Given the description of an element on the screen output the (x, y) to click on. 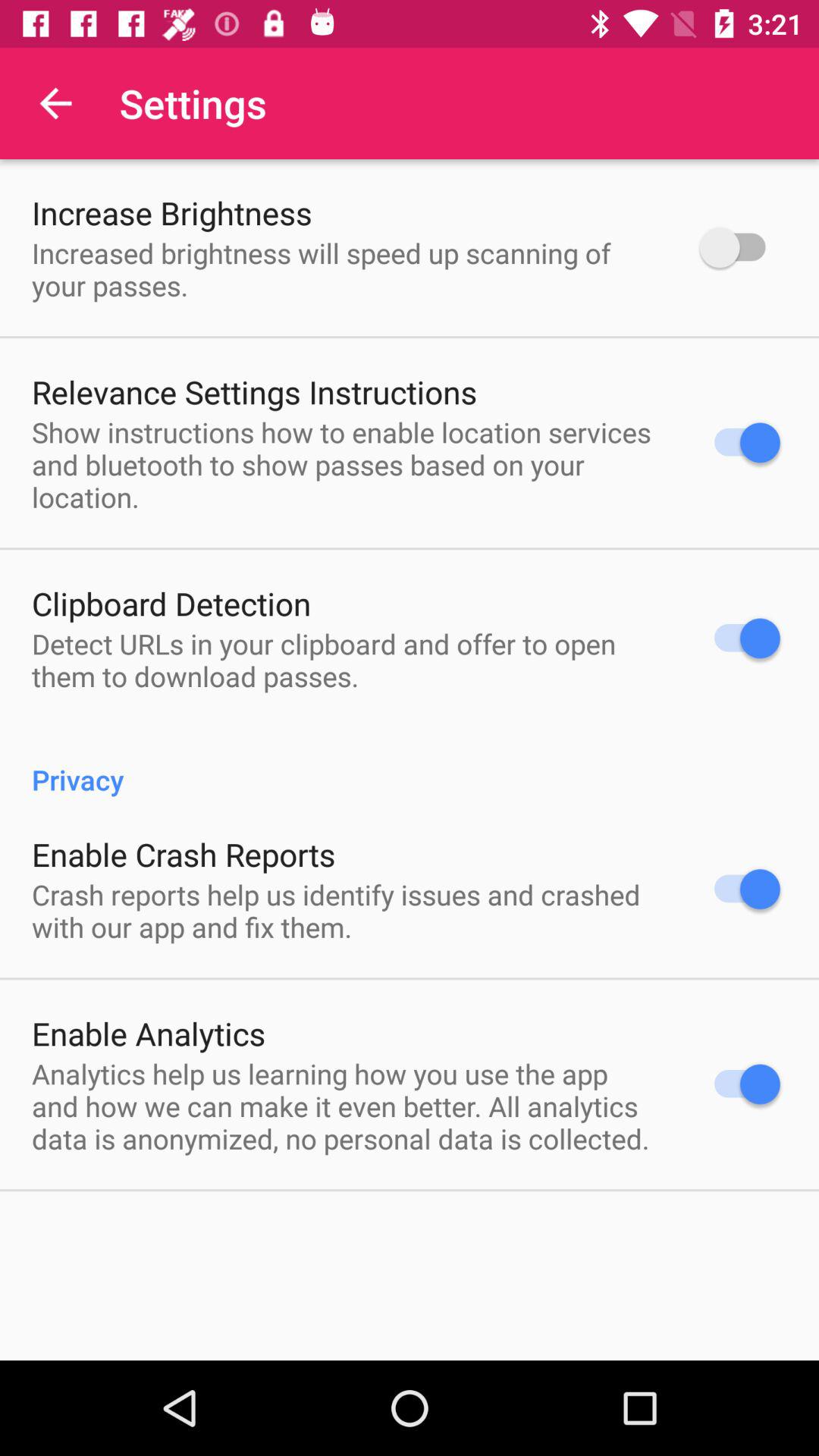
select the item above detect urls in icon (171, 603)
